Given the description of an element on the screen output the (x, y) to click on. 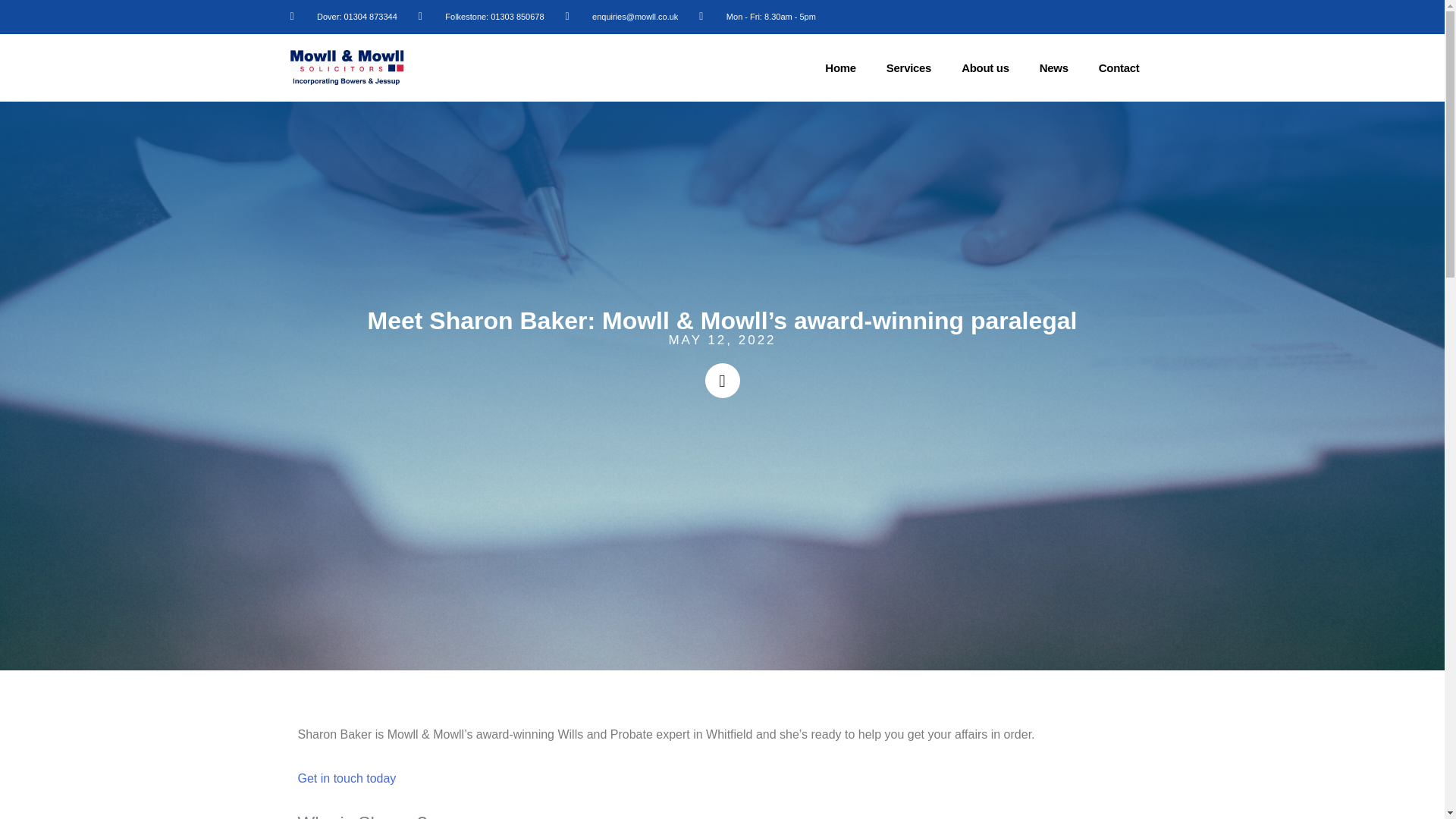
Contact (1118, 67)
Home (839, 67)
About us (985, 67)
Services (908, 67)
News (1054, 67)
